Given the description of an element on the screen output the (x, y) to click on. 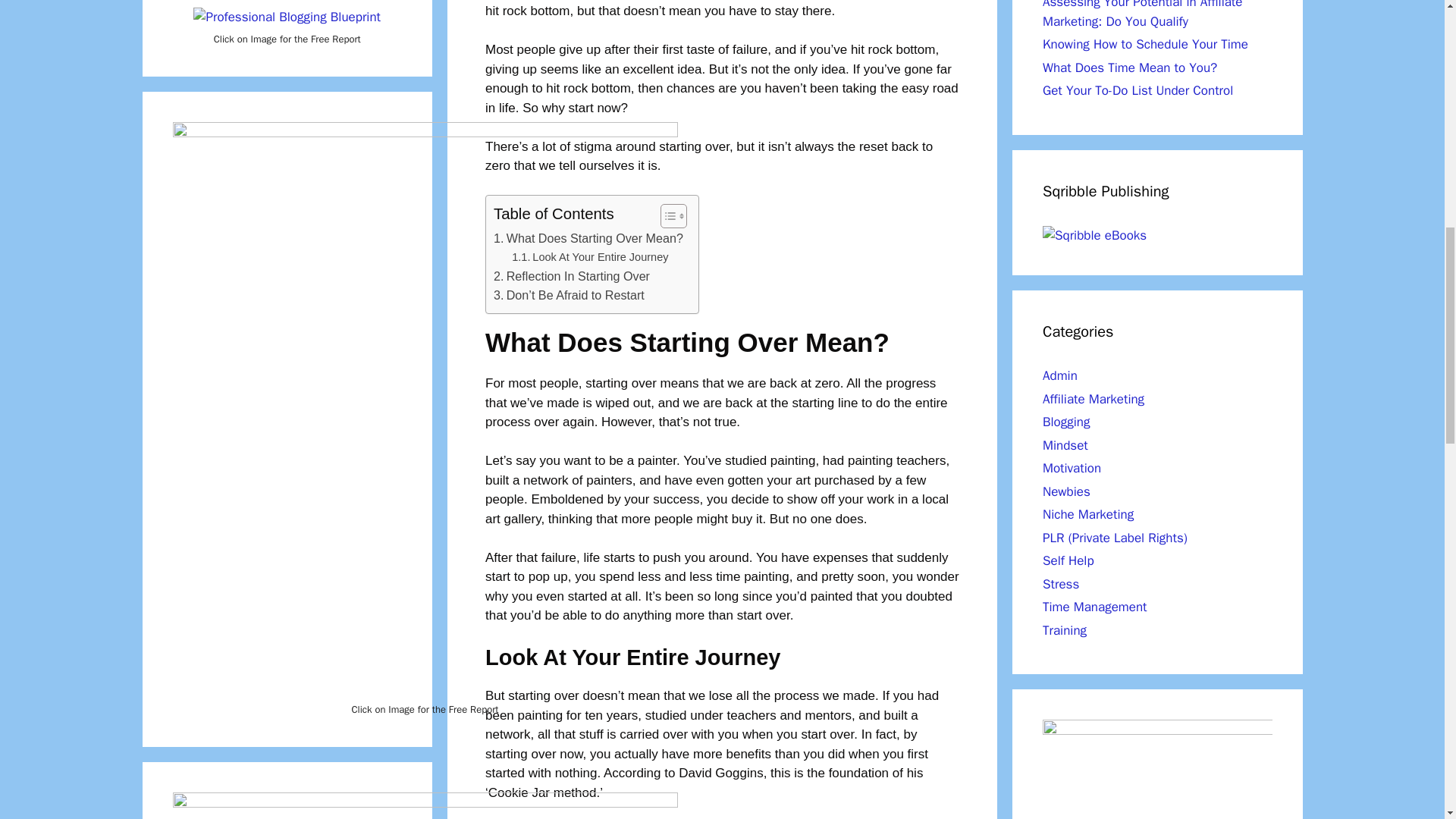
Reflection In Starting Over (571, 276)
Look At Your Entire Journey (590, 257)
What Does Starting Over Mean? (587, 238)
